Given the description of an element on the screen output the (x, y) to click on. 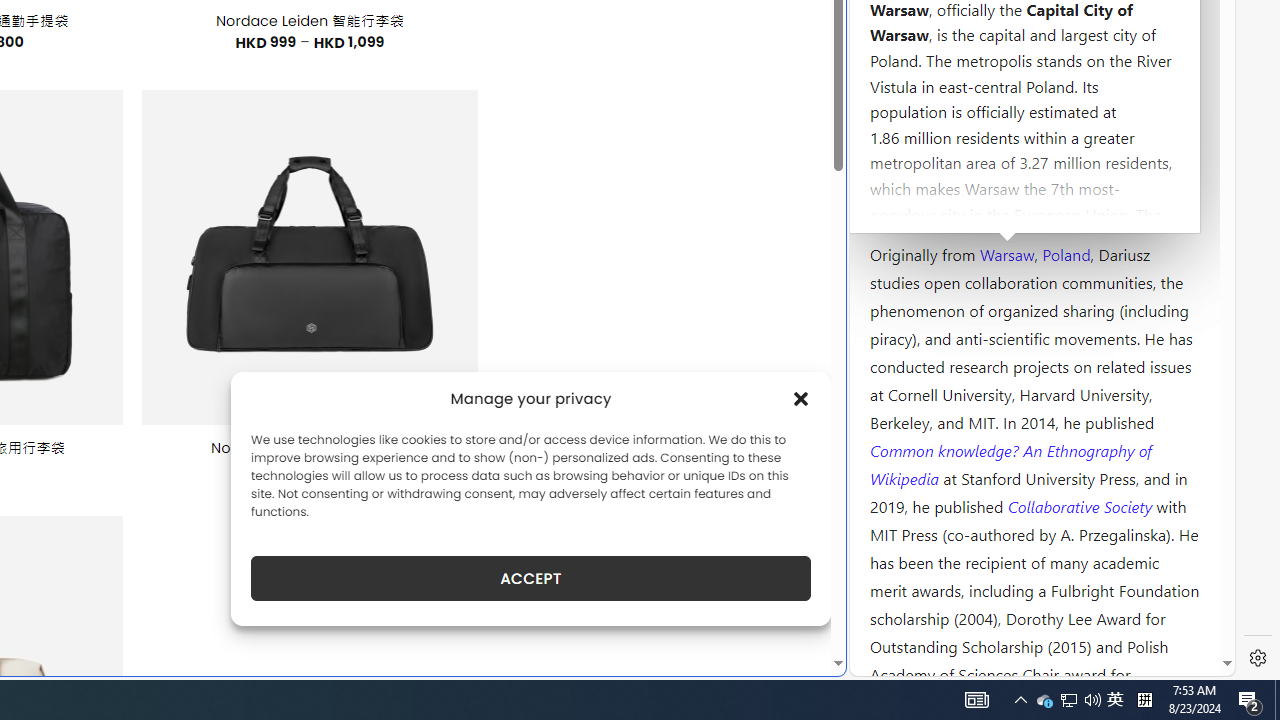
Harvard University (934, 205)
Kozminski University (1034, 136)
ACCEPT (530, 578)
